Given the description of an element on the screen output the (x, y) to click on. 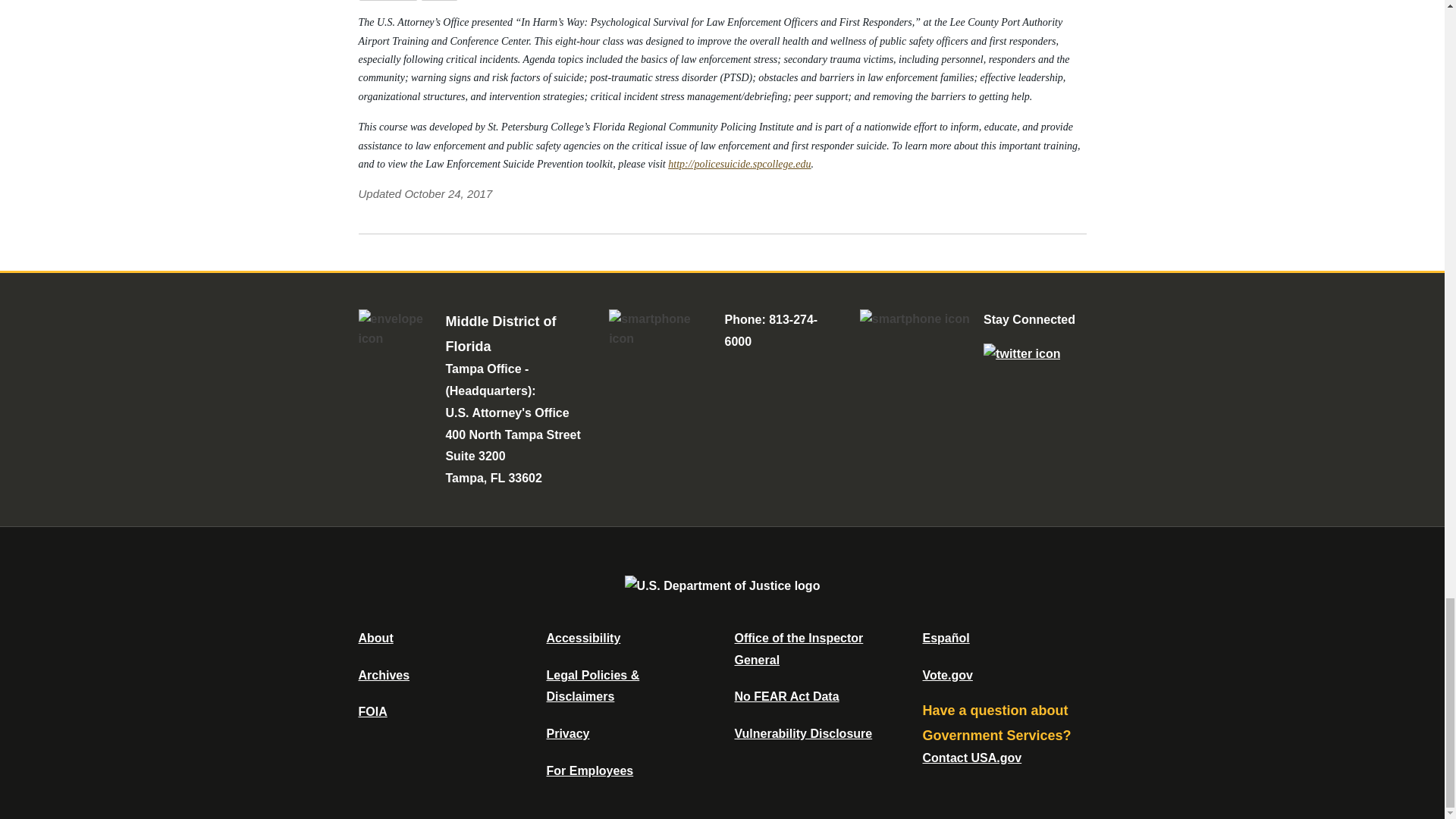
Department of Justice Archive (383, 675)
Legal Policies and Disclaimers (592, 686)
Accessibility Statement (583, 637)
Office of Information Policy (372, 711)
About DOJ (375, 637)
Data Posted Pursuant To The No Fear Act (785, 696)
For Employees (589, 770)
